Given the description of an element on the screen output the (x, y) to click on. 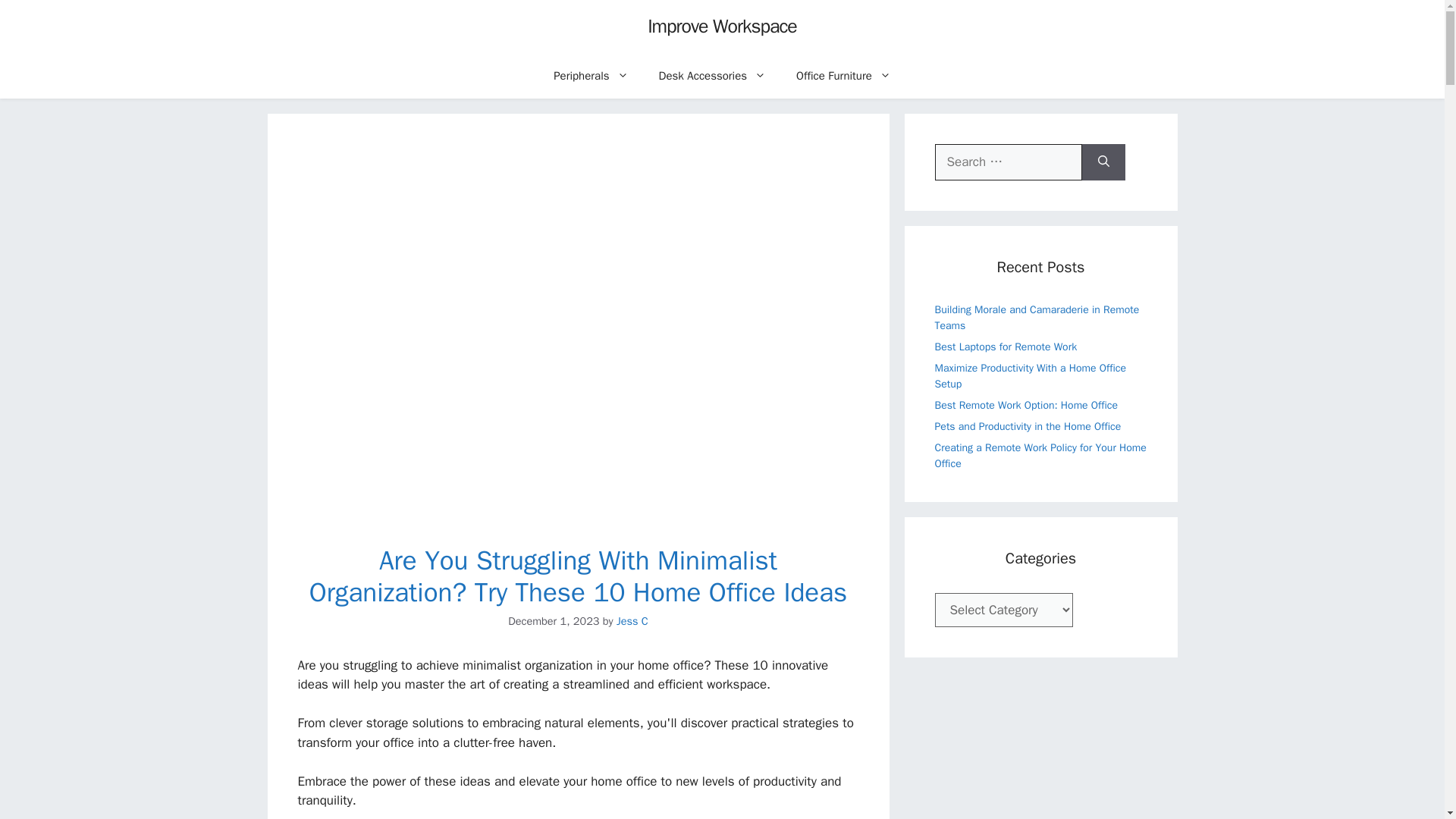
Pets and Productivity in the Home Office (1027, 426)
Office Furniture (842, 75)
Desk Accessories (712, 75)
Maximize Productivity With a Home Office Setup (1029, 375)
Improve Workspace (721, 25)
Creating a Remote Work Policy for Your Home Office (1039, 455)
Best Laptops for Remote Work (1005, 345)
Jess C (631, 621)
Best Remote Work Option: Home Office (1026, 404)
Search for: (1007, 162)
View all posts by Jess C (631, 621)
Building Morale and Camaraderie in Remote Teams (1036, 317)
Peripherals (590, 75)
